Given the description of an element on the screen output the (x, y) to click on. 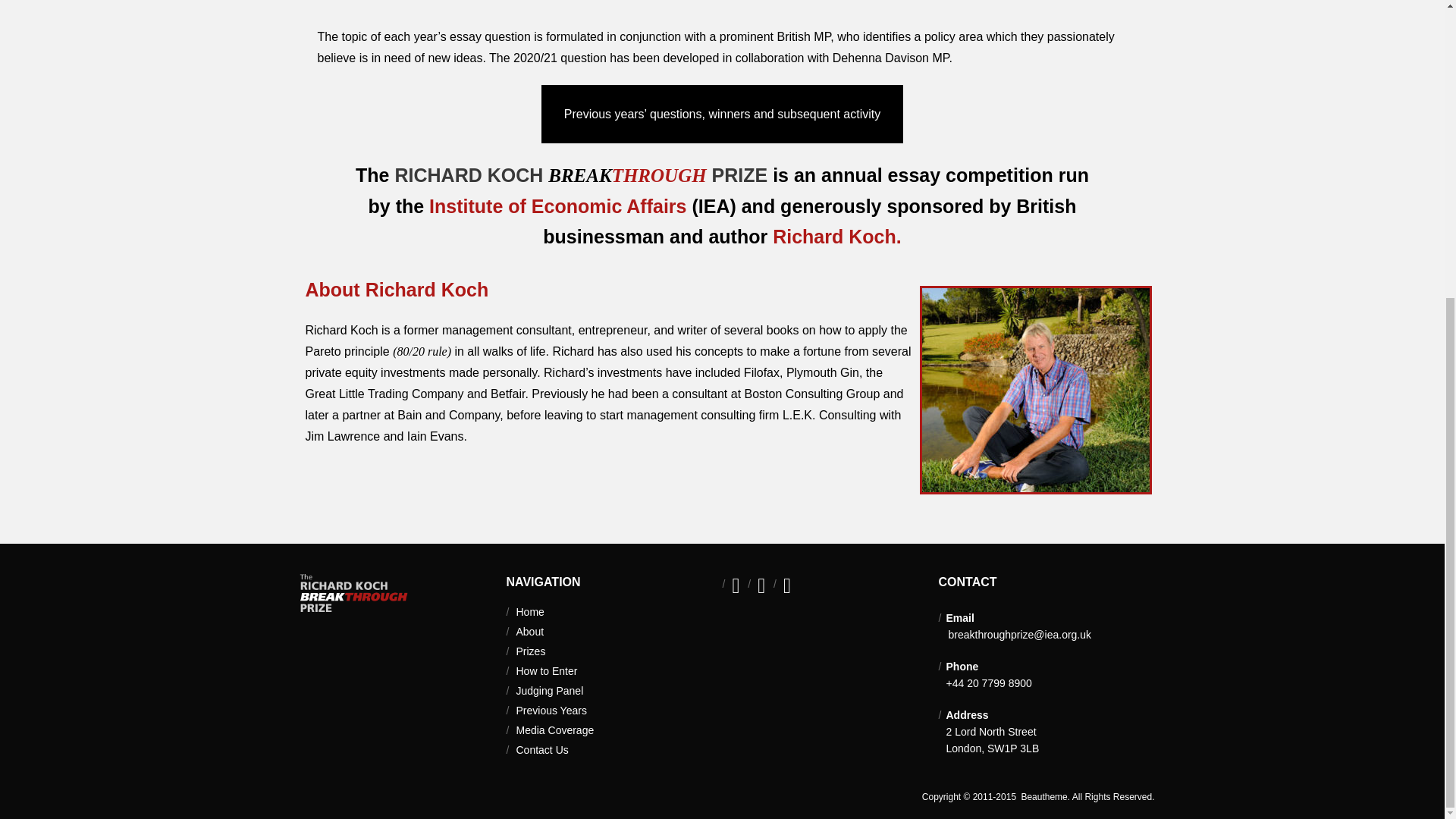
How to Enter (545, 671)
Media Coverage (553, 729)
Contact Us (541, 749)
About (528, 631)
Prizes (529, 651)
Beautheme (1042, 796)
Judging Panel (548, 690)
Previous Years (549, 710)
Home (528, 612)
